Given the description of an element on the screen output the (x, y) to click on. 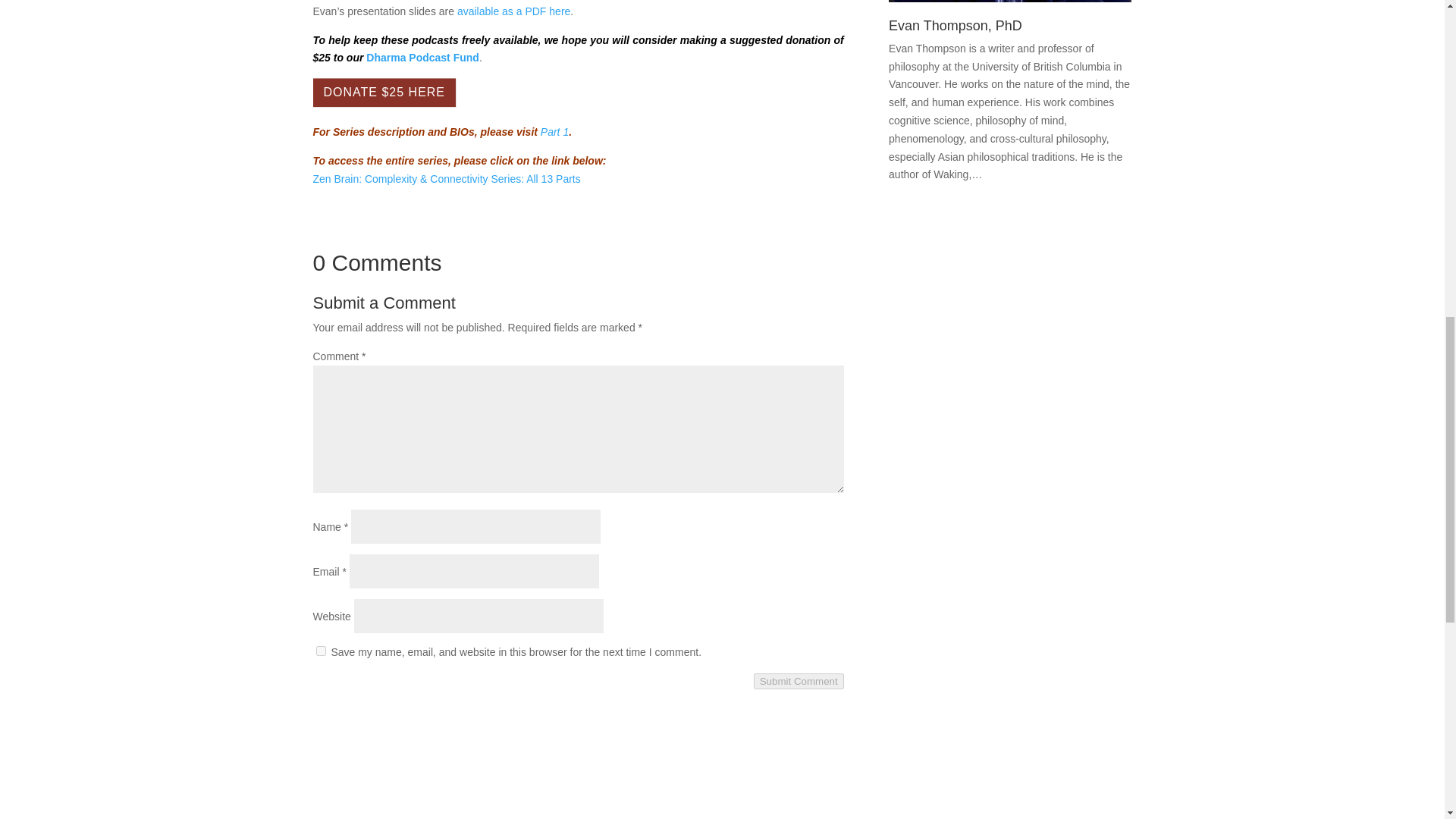
Give to Upaya's Dharma Podcast Fund (422, 57)
yes (319, 651)
